Given the description of an element on the screen output the (x, y) to click on. 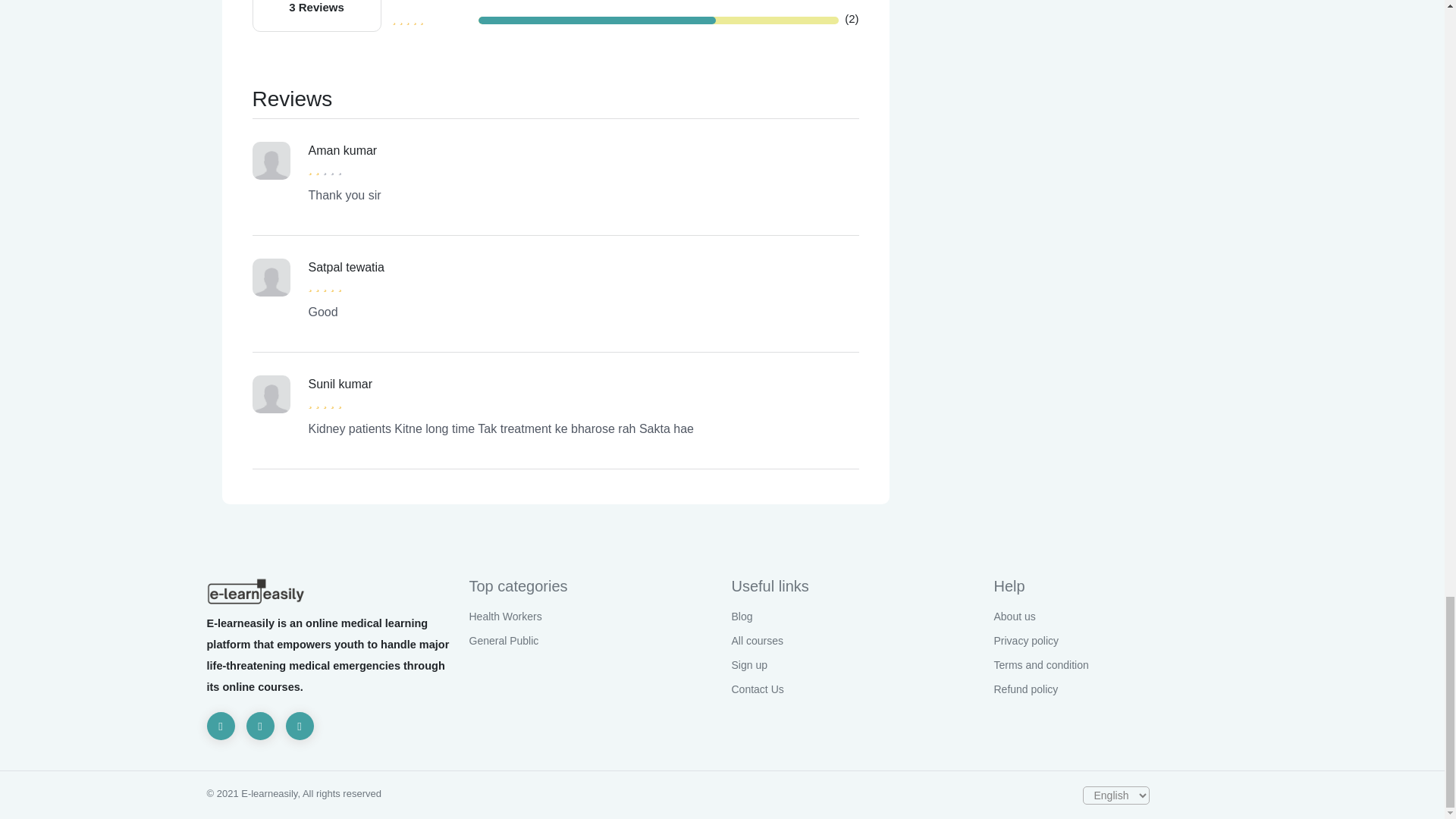
General Public (503, 640)
Privacy policy (1025, 640)
Sign up (748, 664)
Health Workers (504, 616)
Blog (741, 616)
Contact Us (756, 689)
About us (1013, 616)
All courses (756, 640)
